Given the description of an element on the screen output the (x, y) to click on. 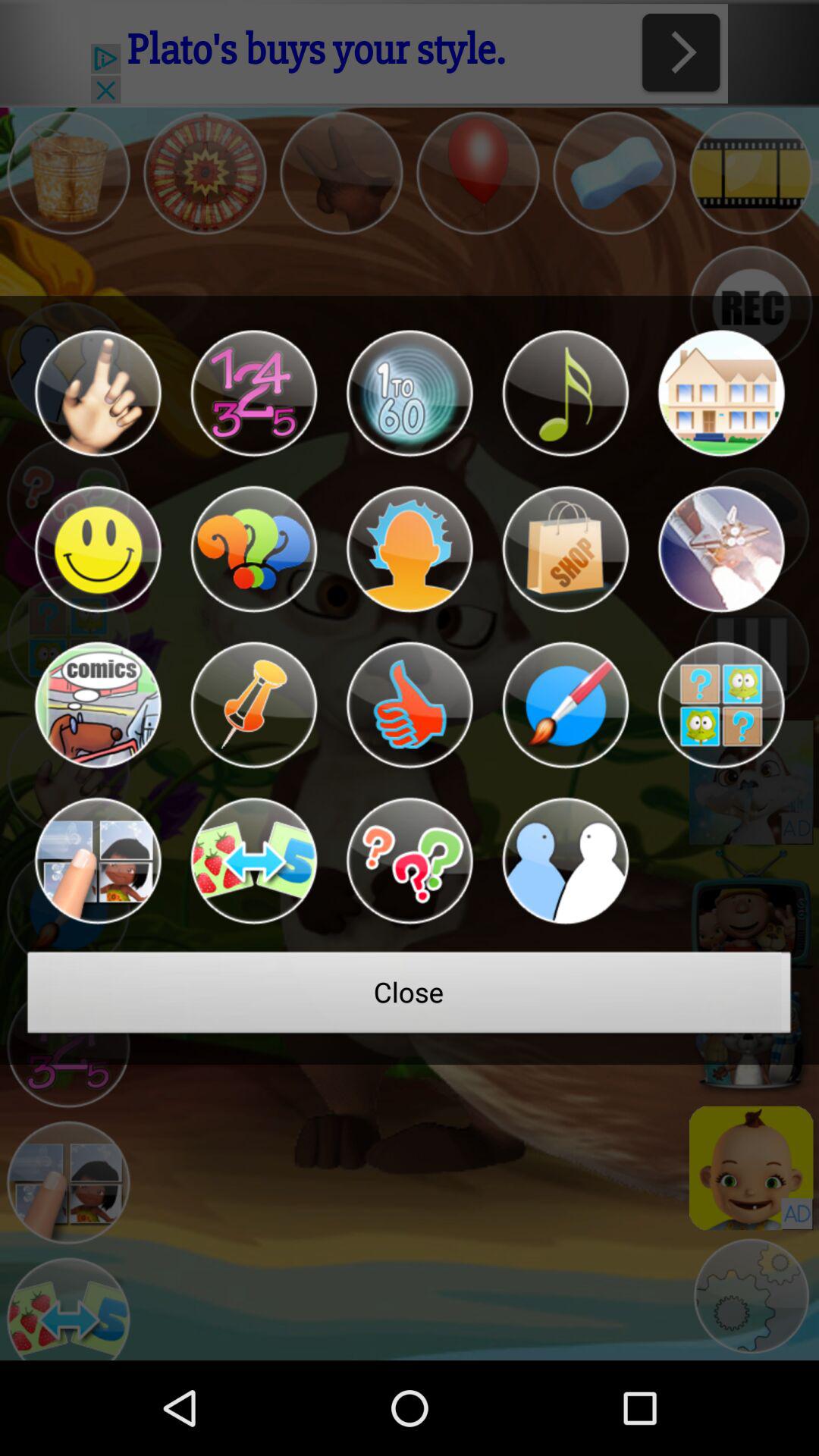
open music app (565, 393)
